Given the description of an element on the screen output the (x, y) to click on. 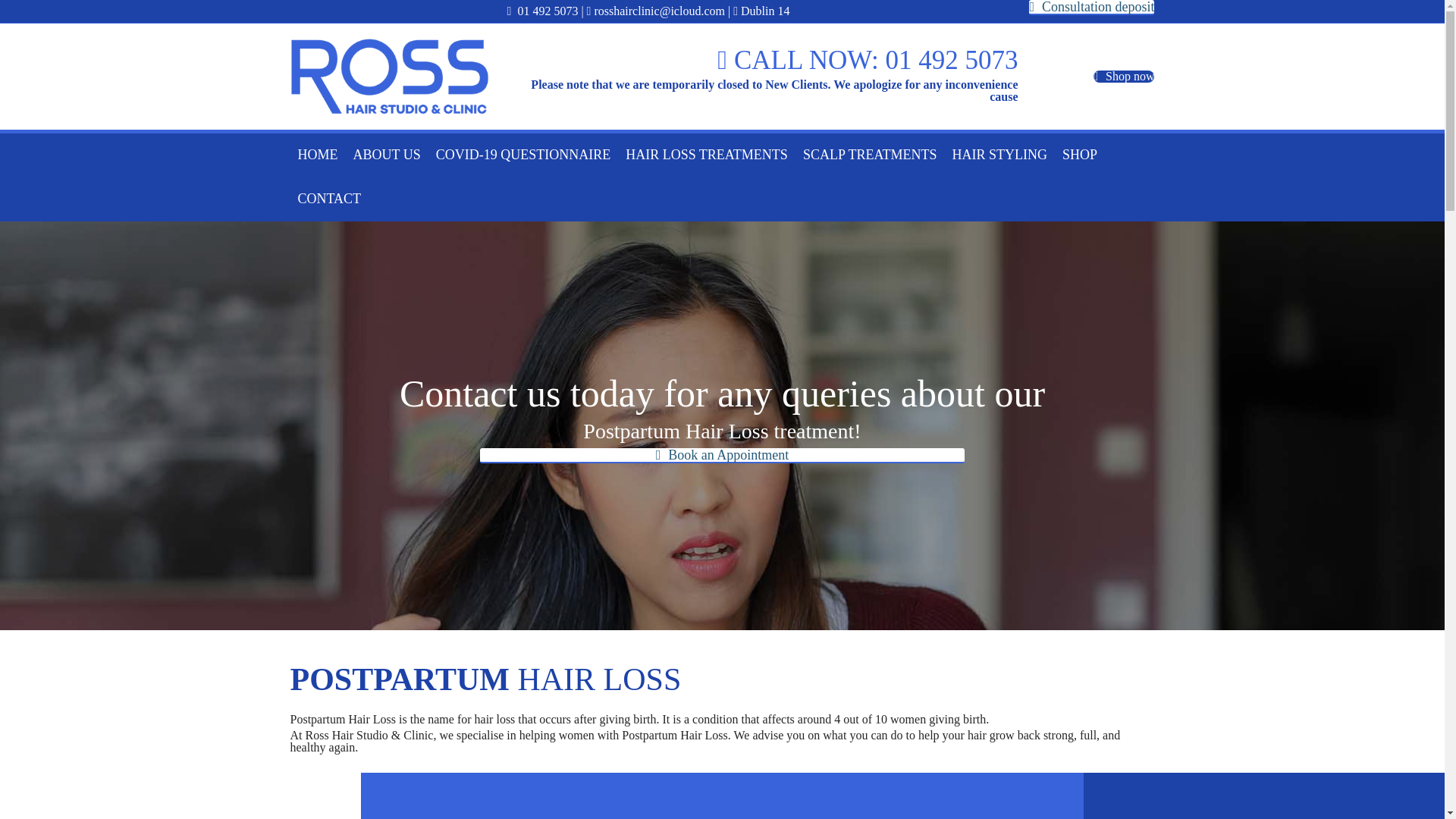
ABOUT US (387, 155)
COVID-19 QUESTIONNAIRE (522, 155)
HOME (317, 155)
HAIR LOSS TREATMENTS (705, 155)
CONTACT (328, 199)
Consultation deposit (1091, 7)
Shop now (1123, 76)
SCALP TREATMENTS (869, 155)
SHOP (1079, 155)
HAIR STYLING (998, 155)
Book an Appointment (721, 455)
